Given the description of an element on the screen output the (x, y) to click on. 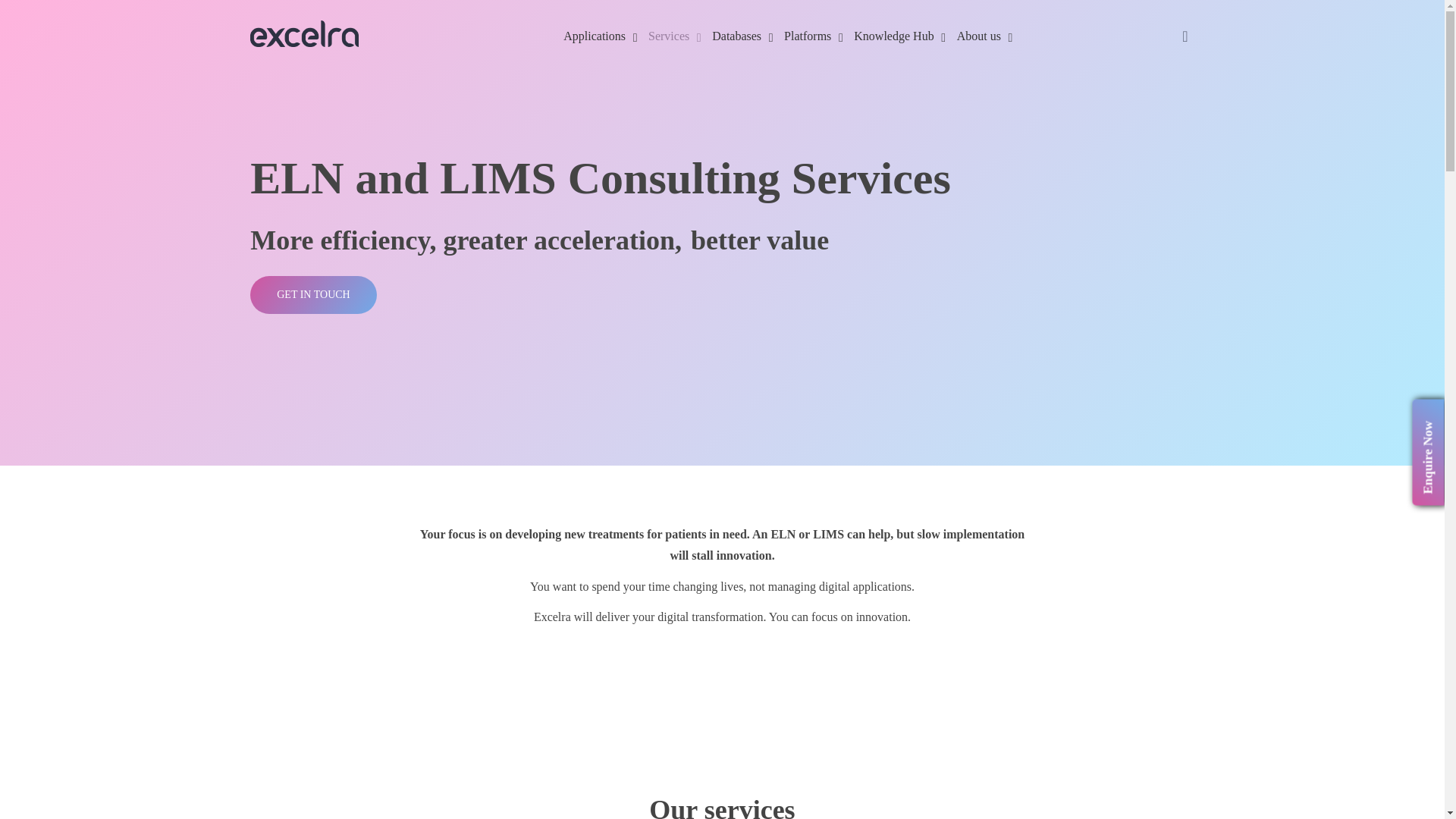
Platforms (808, 36)
Applications (594, 36)
Databases (736, 36)
